Given the description of an element on the screen output the (x, y) to click on. 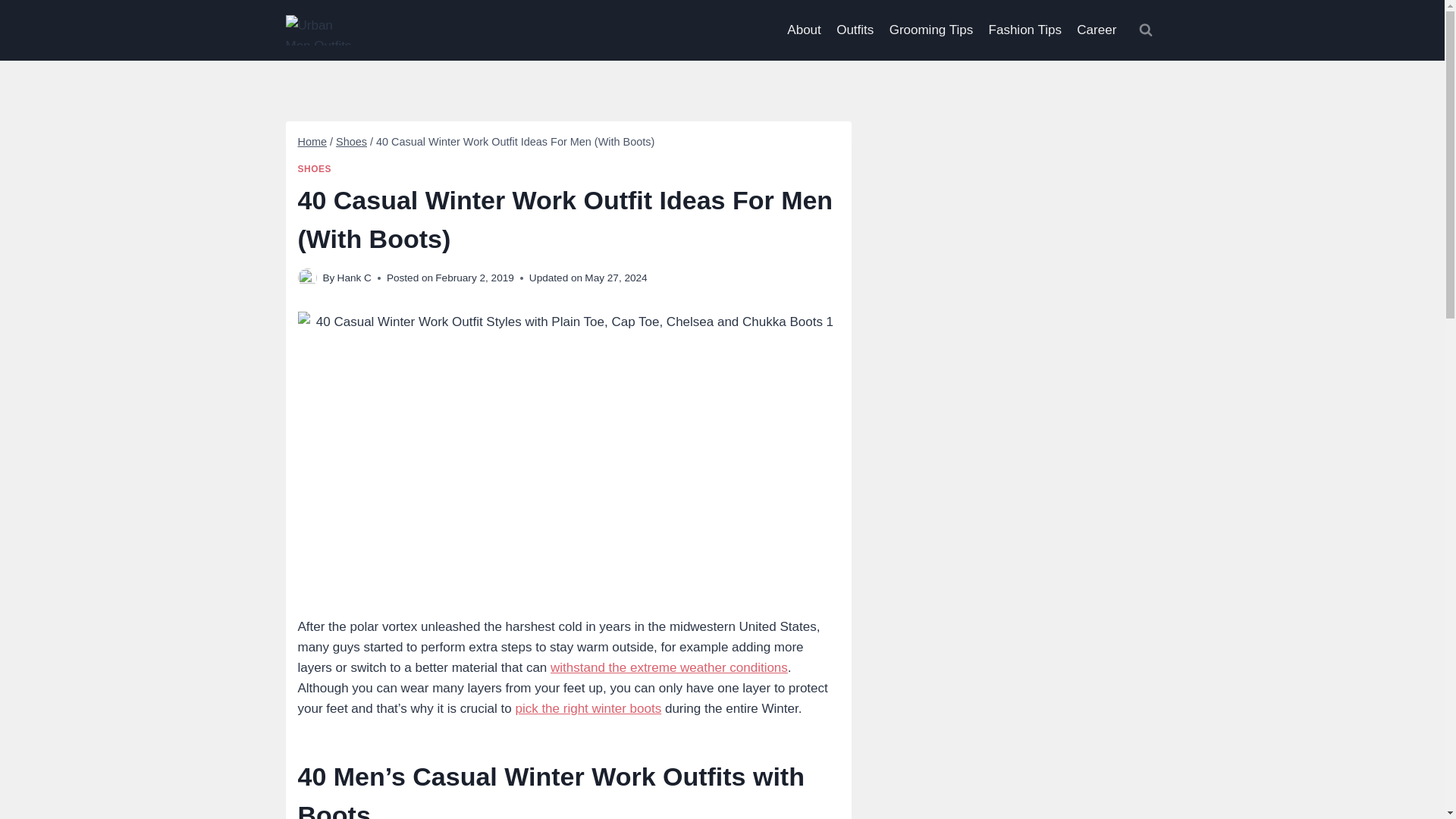
About (803, 30)
SHOES (314, 168)
Home (311, 141)
Hank C (354, 277)
withstand the extreme weather conditions (668, 667)
Outfits (855, 30)
pick the right winter boots (588, 708)
Shoes (351, 141)
Career (1096, 30)
Grooming Tips (929, 30)
Fashion Tips (1023, 30)
